Given the description of an element on the screen output the (x, y) to click on. 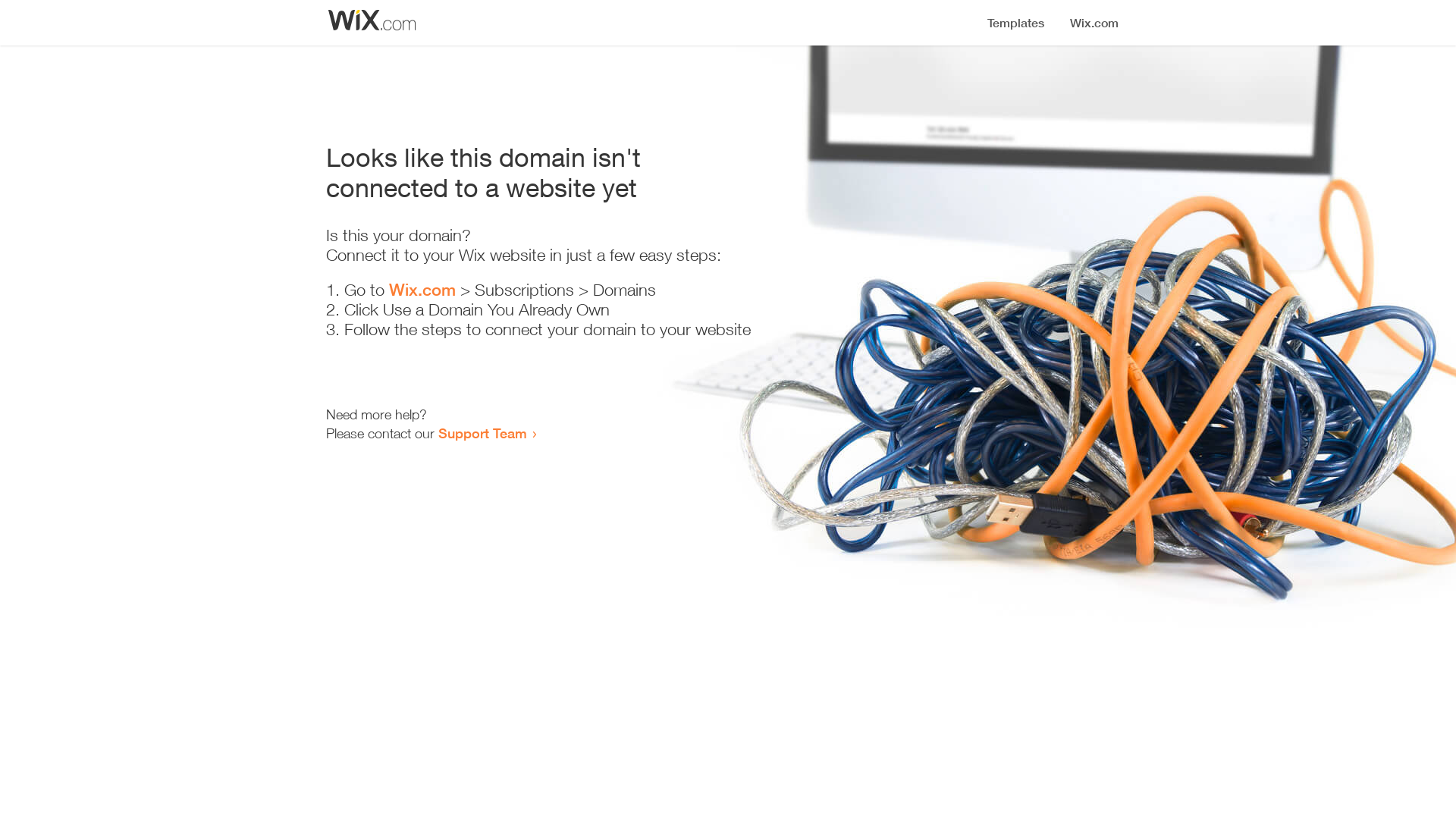
Support Team Element type: text (482, 432)
Wix.com Element type: text (422, 289)
